Given the description of an element on the screen output the (x, y) to click on. 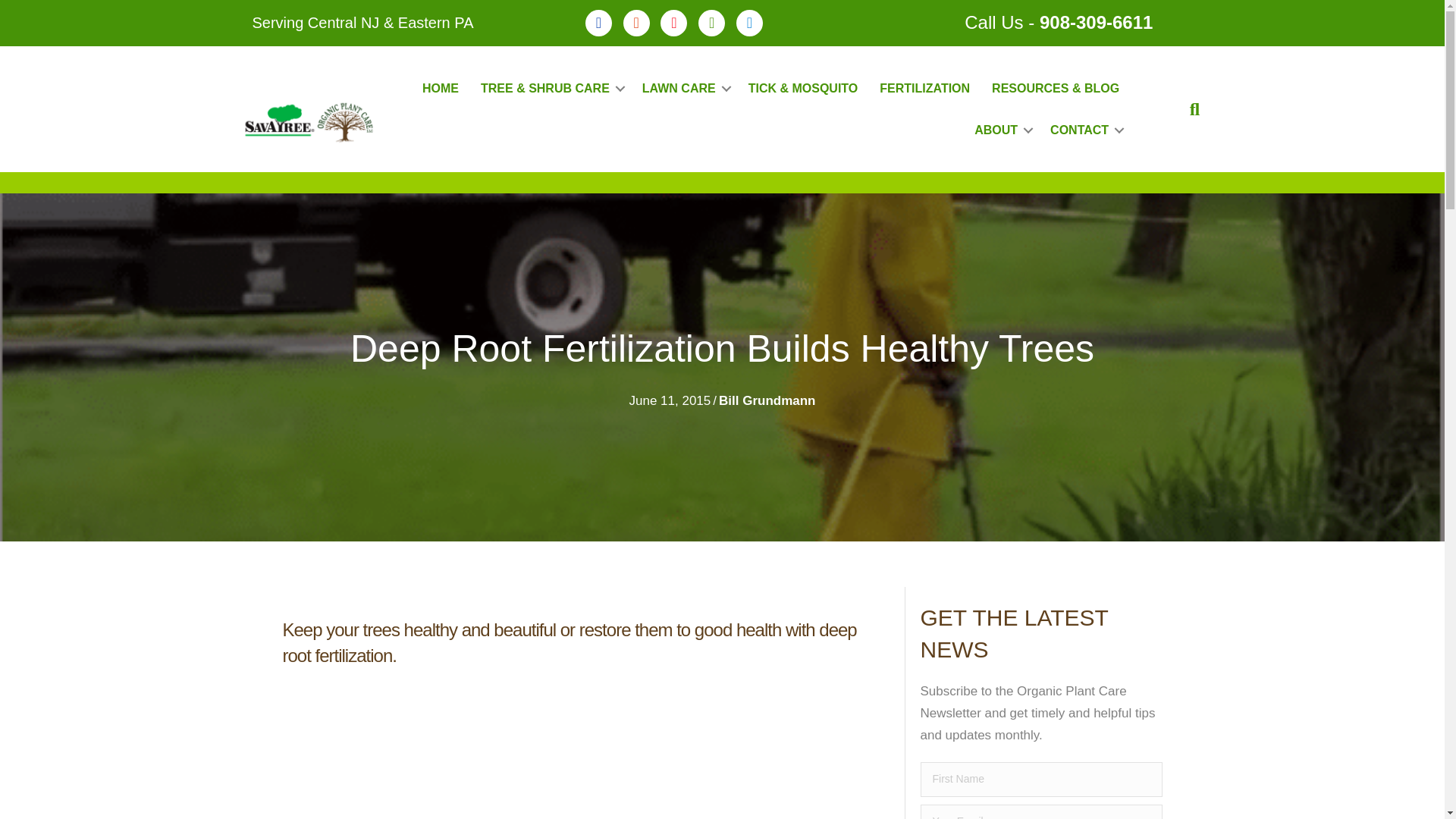
HOME (440, 87)
Bill Grundmann (767, 400)
CONTACT (1084, 129)
ABOUT (1001, 129)
OPC DUAL SAT 400x400 (308, 122)
LAWN CARE (683, 87)
908-309-6611 (1096, 22)
FERTILIZATION (924, 87)
